Given the description of an element on the screen output the (x, y) to click on. 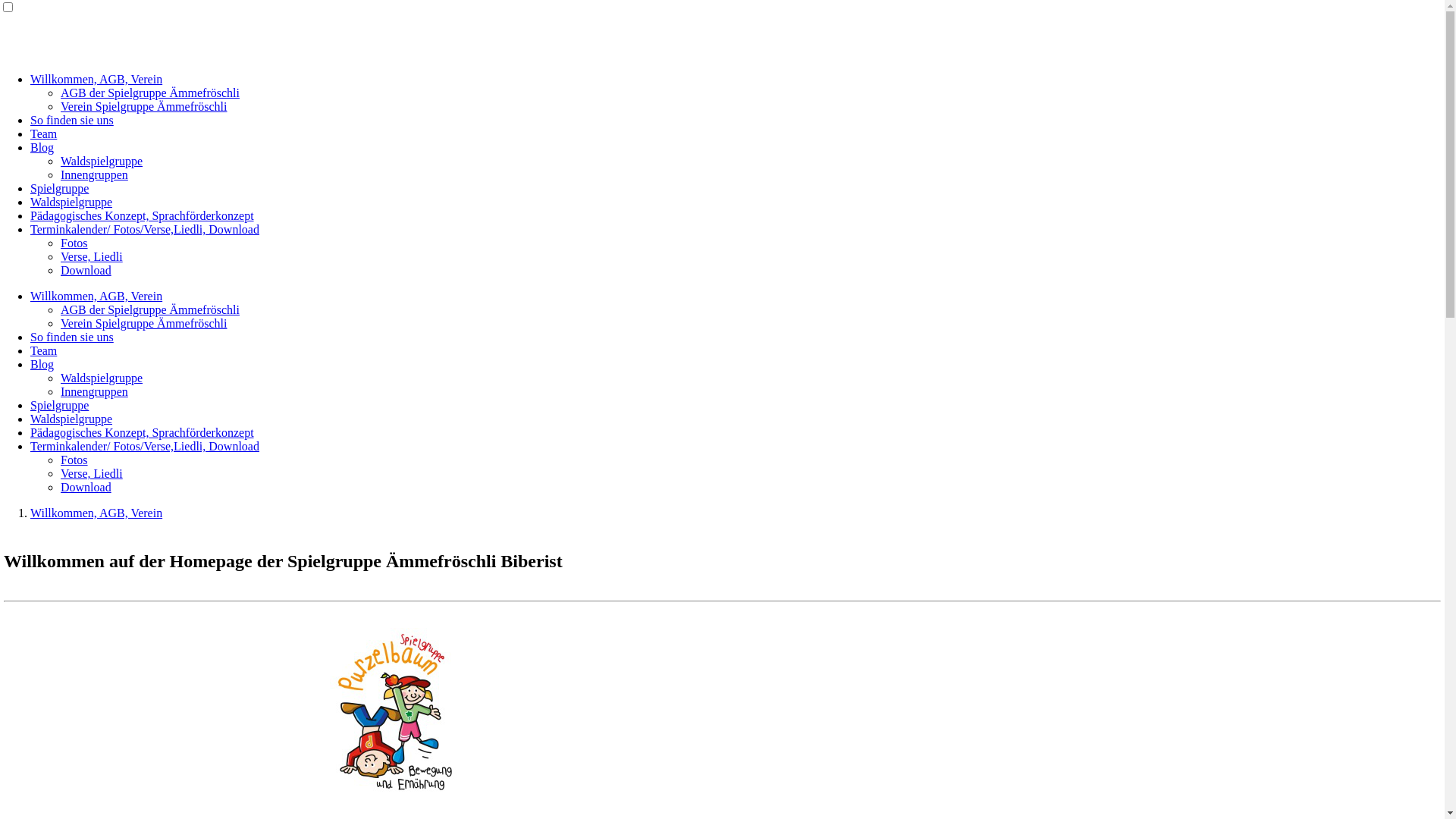
Fotos Element type: text (73, 242)
Innengruppen Element type: text (94, 391)
Waldspielgruppe Element type: text (101, 377)
Verse, Liedli Element type: text (91, 473)
Willkommen, AGB, Verein Element type: text (96, 295)
Spielgruppe Element type: text (59, 188)
Spielgruppe Element type: text (59, 404)
Waldspielgruppe Element type: text (101, 160)
Waldspielgruppe Element type: text (71, 418)
Blog Element type: text (41, 363)
So finden sie uns Element type: text (71, 336)
Fotos Element type: text (73, 459)
Terminkalender/ Fotos/Verse,Liedli, Download Element type: text (144, 445)
Team Element type: text (43, 133)
Download Element type: text (85, 486)
Innengruppen Element type: text (94, 174)
Download Element type: text (85, 269)
Team Element type: text (43, 350)
Terminkalender/ Fotos/Verse,Liedli, Download Element type: text (144, 228)
Willkommen, AGB, Verein Element type: text (96, 78)
Blog Element type: text (41, 147)
Verse, Liedli Element type: text (91, 256)
Willkommen, AGB, Verein Element type: text (96, 512)
Waldspielgruppe Element type: text (71, 201)
So finden sie uns Element type: text (71, 119)
